Given the description of an element on the screen output the (x, y) to click on. 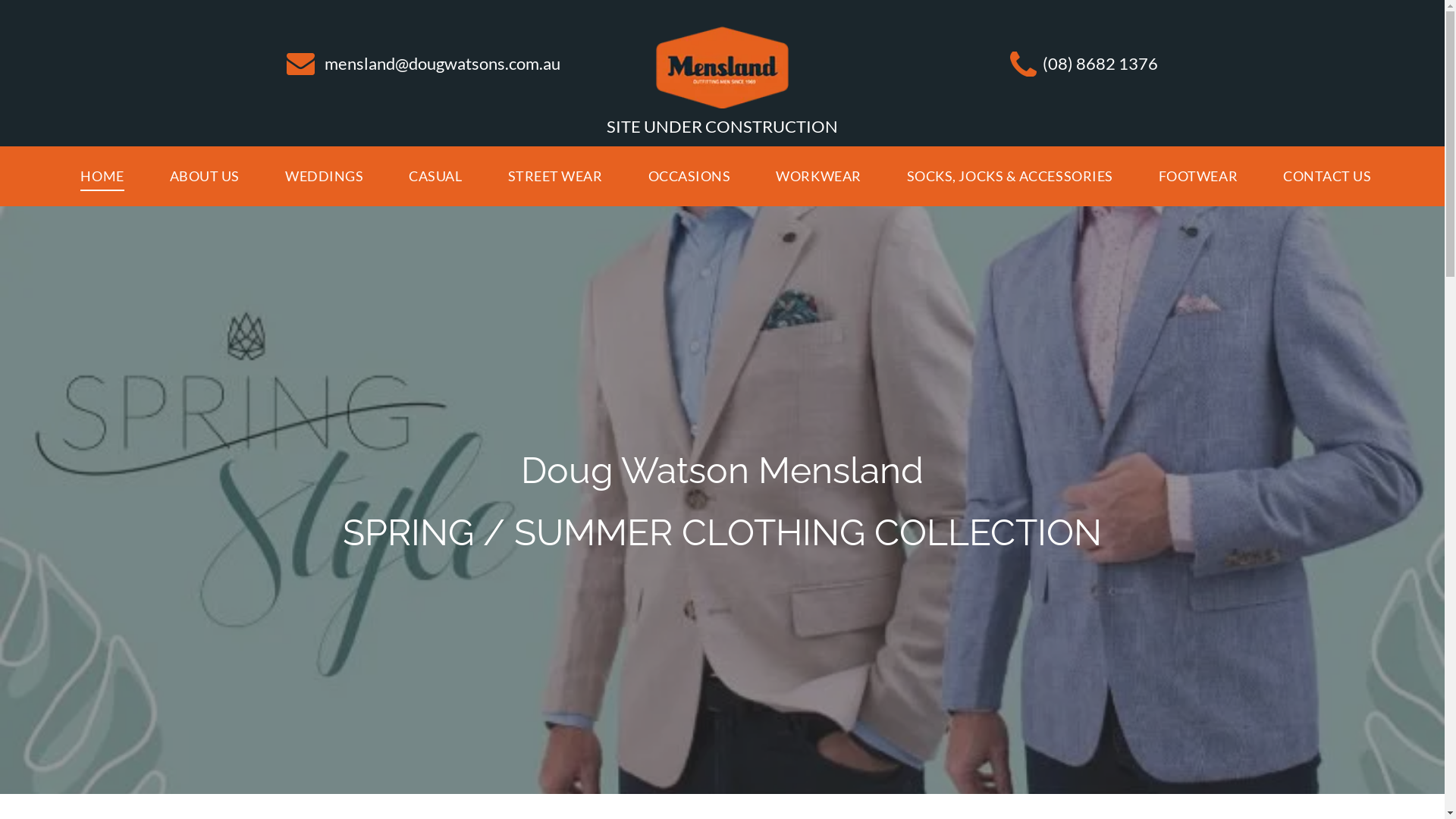
STREET WEAR Element type: text (555, 176)
CASUAL Element type: text (434, 176)
OCCASIONS Element type: text (689, 176)
Mensland Logo Element type: hover (721, 67)
ABOUT US Element type: text (204, 176)
CONTACT US Element type: text (1326, 176)
(08) 8682 1376 Element type: text (1099, 63)
SOCKS, JOCKS & ACCESSORIES Element type: text (1009, 176)
WORKWEAR Element type: text (818, 176)
HOME Element type: text (101, 176)
WEDDINGS Element type: text (323, 176)
FOOTWEAR Element type: text (1197, 176)
